Given the description of an element on the screen output the (x, y) to click on. 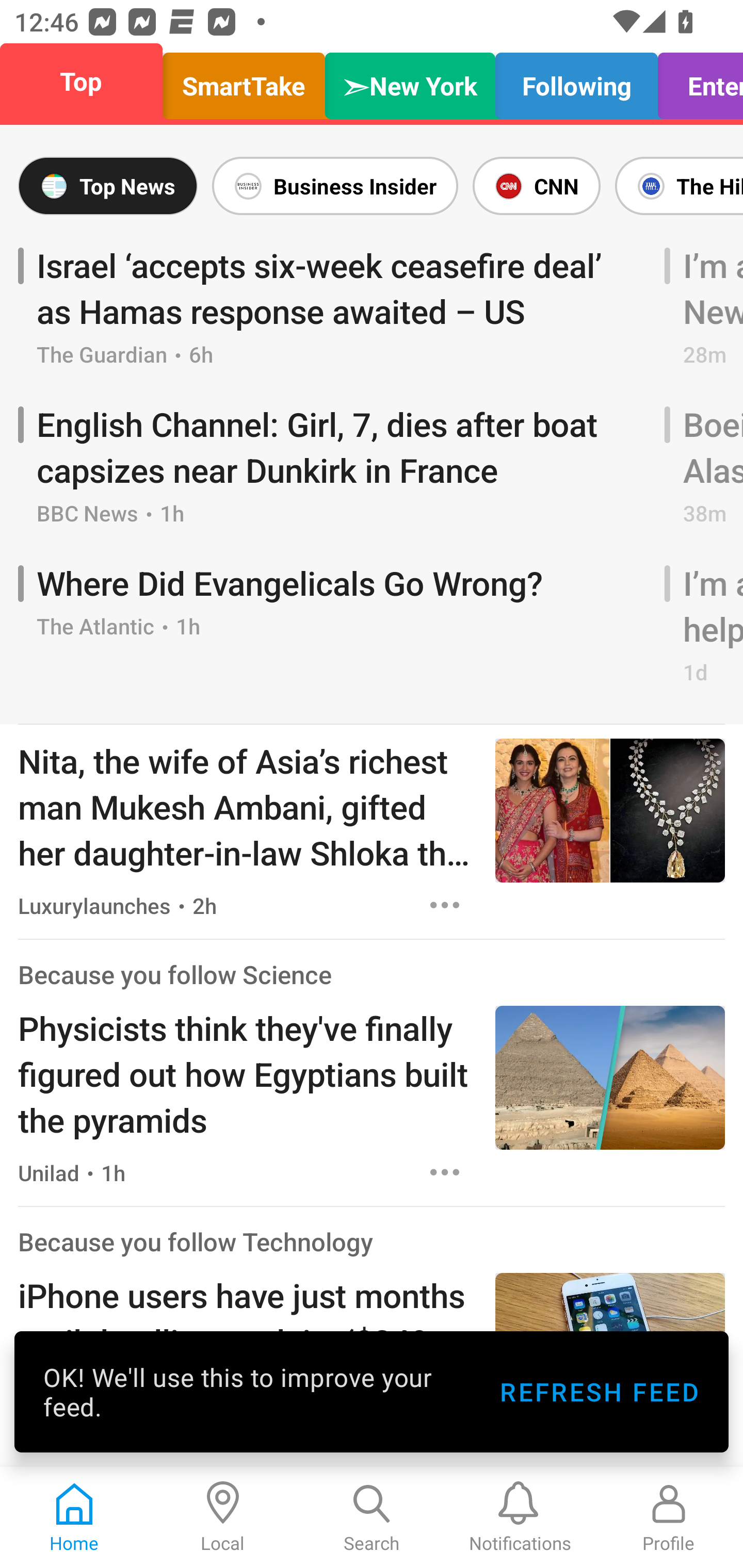
Top (86, 81)
SmartTake (243, 81)
➣New York (409, 81)
Following (576, 81)
Business Insider (335, 185)
CNN (536, 185)
Where Did Evangelicals Go Wrong? The Atlantic ・ 1h (334, 626)
Options (444, 904)
Because you follow Science (174, 974)
Options (444, 1172)
Because you follow Technology (195, 1241)
REFRESH FEED (598, 1391)
Local (222, 1517)
Search (371, 1517)
Notifications (519, 1517)
Profile (668, 1517)
